Given the description of an element on the screen output the (x, y) to click on. 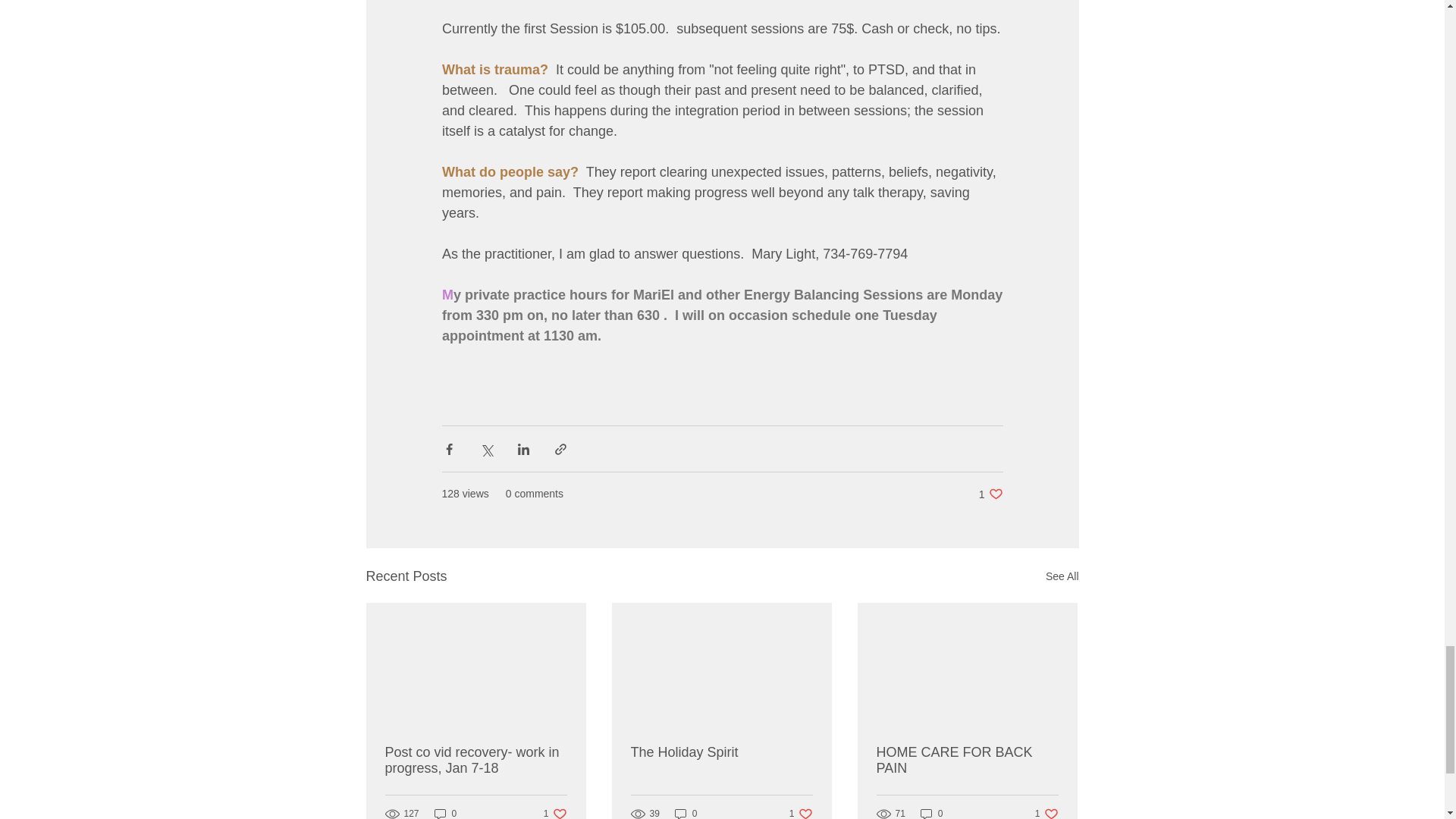
0 (931, 812)
The Holiday Spirit (721, 752)
See All (800, 812)
Post co vid recovery- work in progress, Jan 7-18 (1061, 576)
HOME CARE FOR BACK PAIN (476, 760)
0 (990, 493)
